Given the description of an element on the screen output the (x, y) to click on. 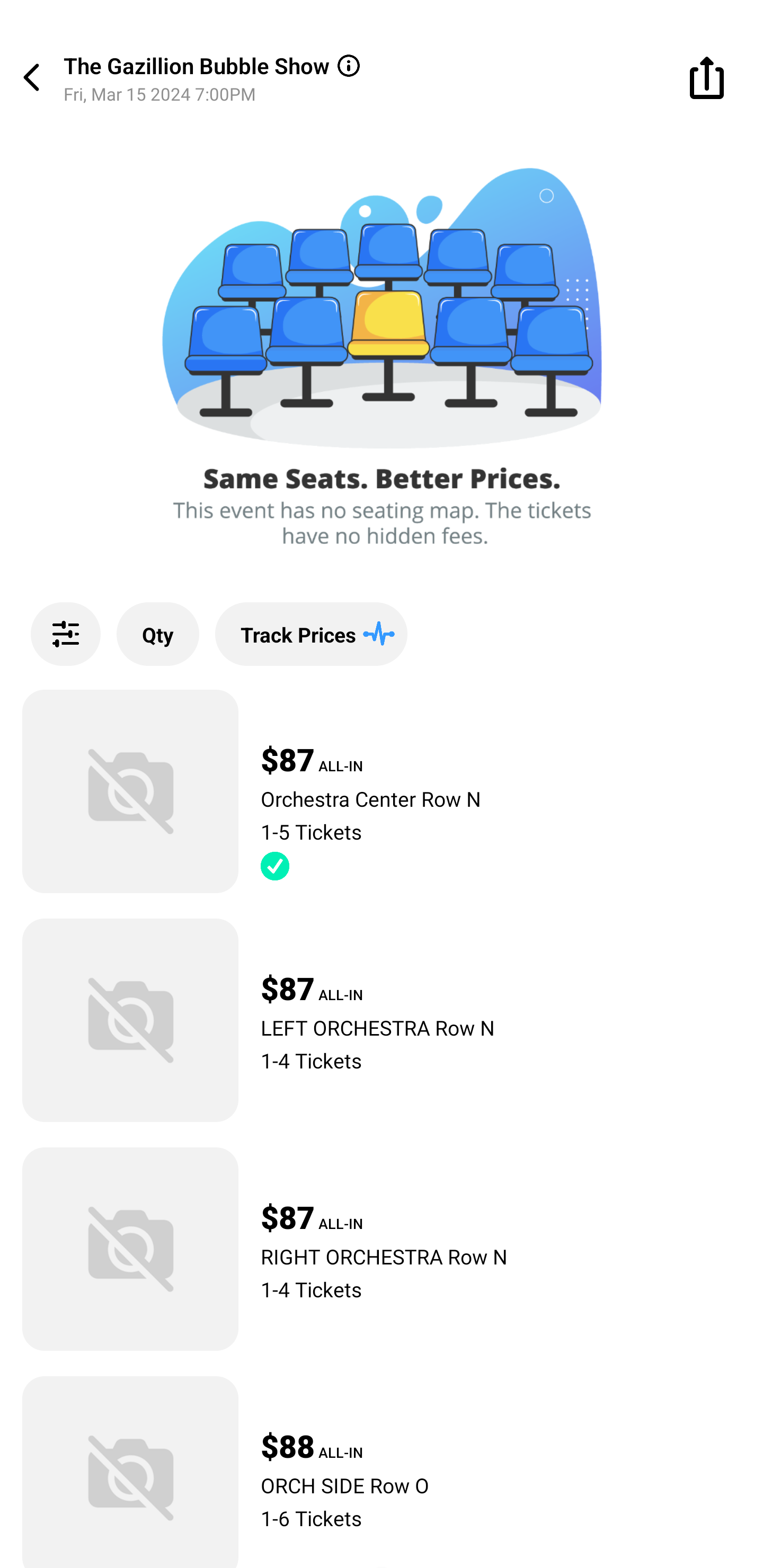
Qty (157, 634)
Track Prices (311, 634)
